Given the description of an element on the screen output the (x, y) to click on. 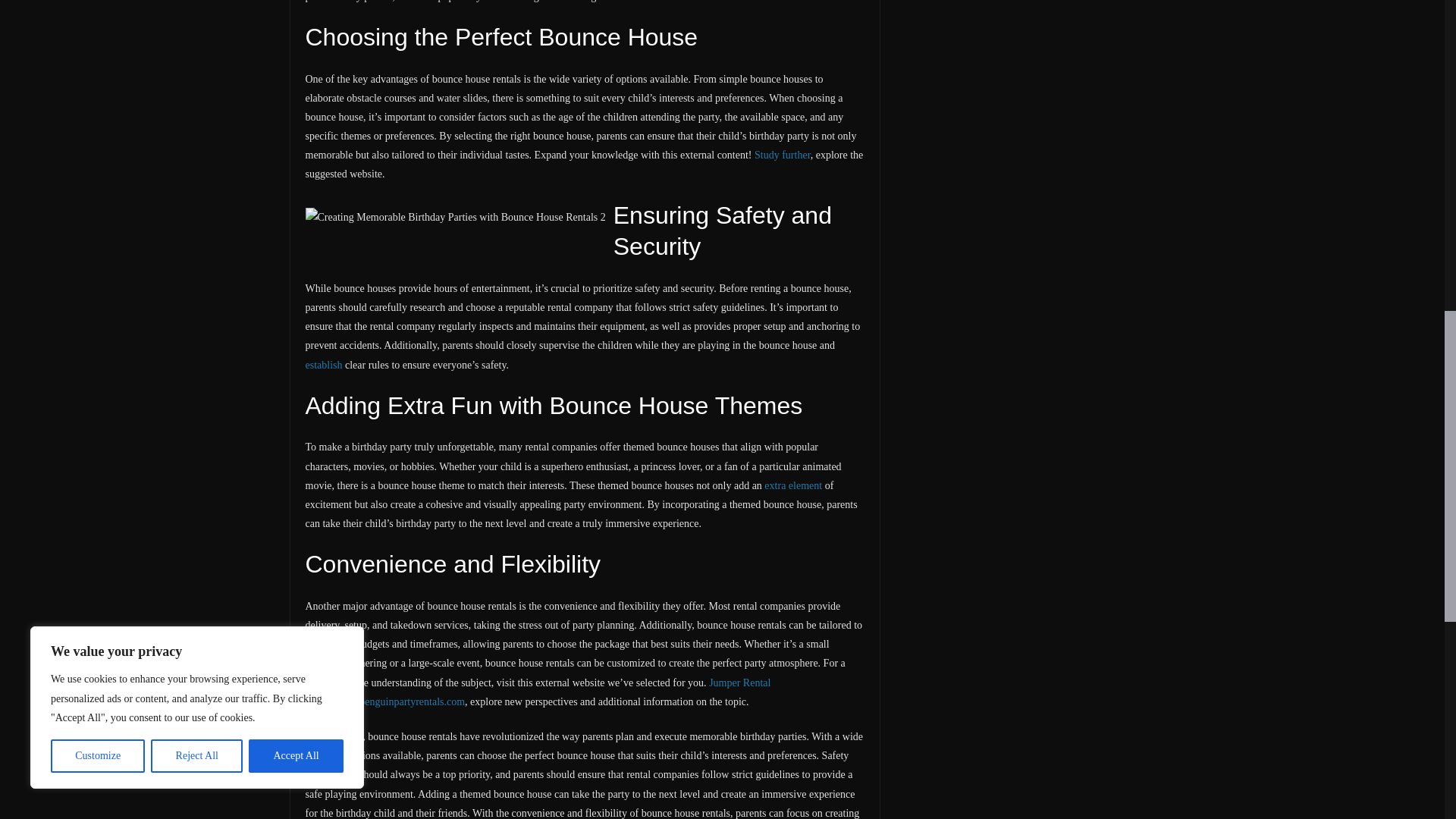
Study further (782, 154)
extra element (793, 485)
establish (323, 365)
